Given the description of an element on the screen output the (x, y) to click on. 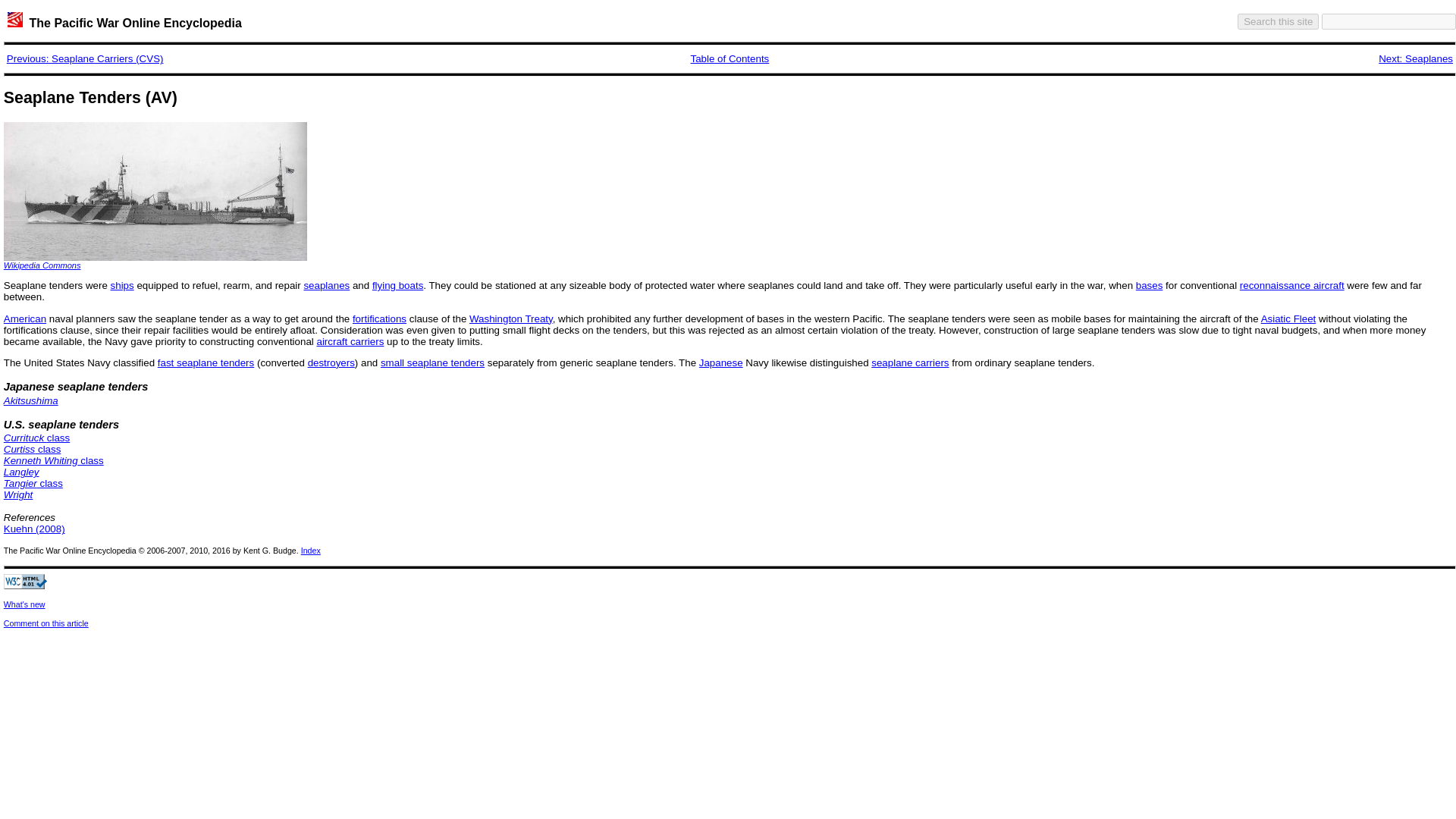
Table of Contents (730, 58)
Next: Seaplanes (1415, 58)
Tangier class (33, 482)
Kenneth Whiting class (53, 460)
Currituck class (36, 437)
flying boats (397, 285)
Asiatic Fleet (1288, 318)
destroyers (331, 362)
Wikipedia Commons (42, 265)
ships (121, 285)
